Given the description of an element on the screen output the (x, y) to click on. 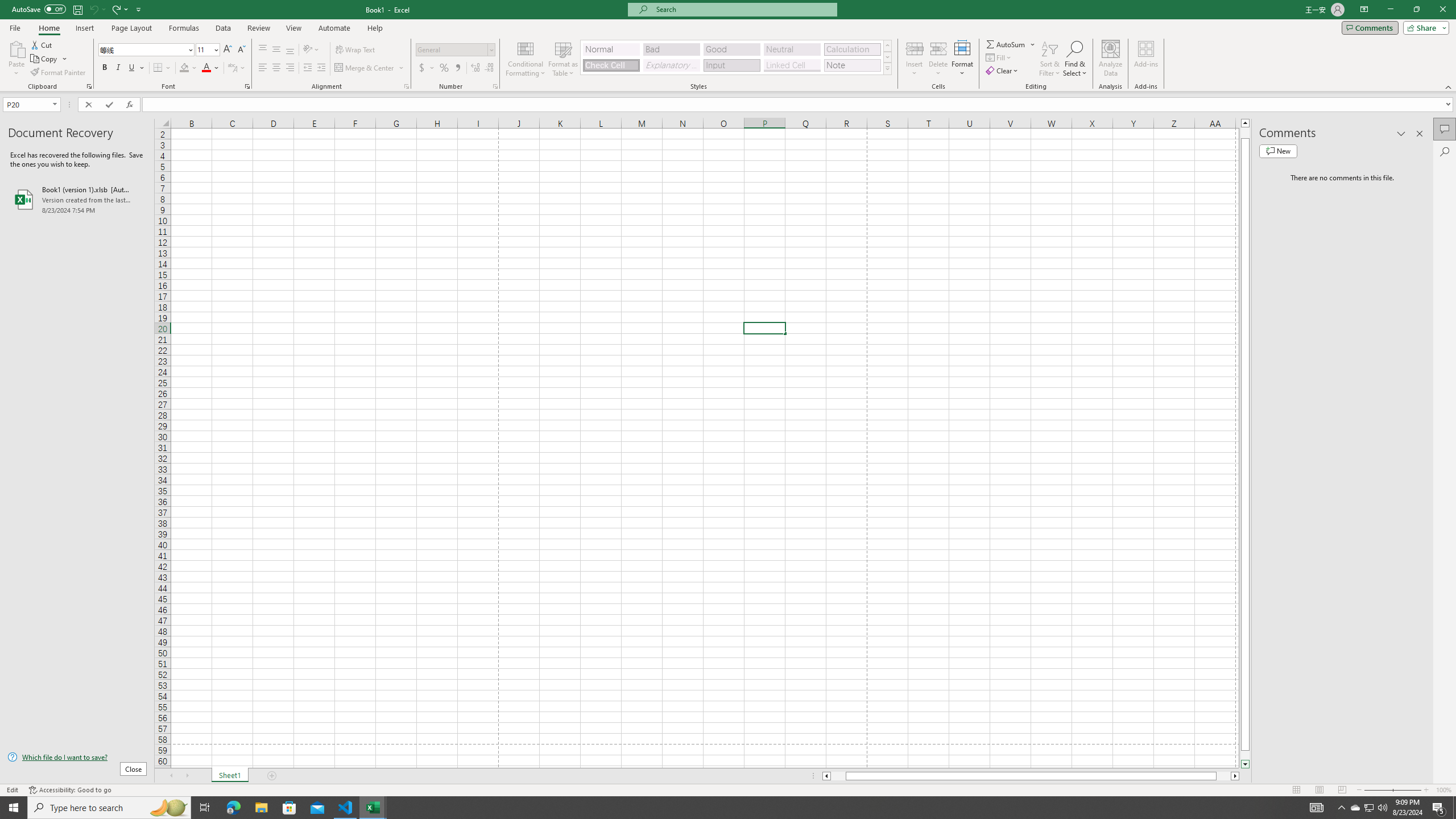
Decrease Decimal (489, 67)
Show Phonetic Field (236, 67)
Increase Font Size (227, 49)
Accounting Number Format (422, 67)
AutoSum (1011, 44)
Linked Cell (791, 65)
Font Color RGB(255, 0, 0) (206, 67)
Wrap Text (355, 49)
